Given the description of an element on the screen output the (x, y) to click on. 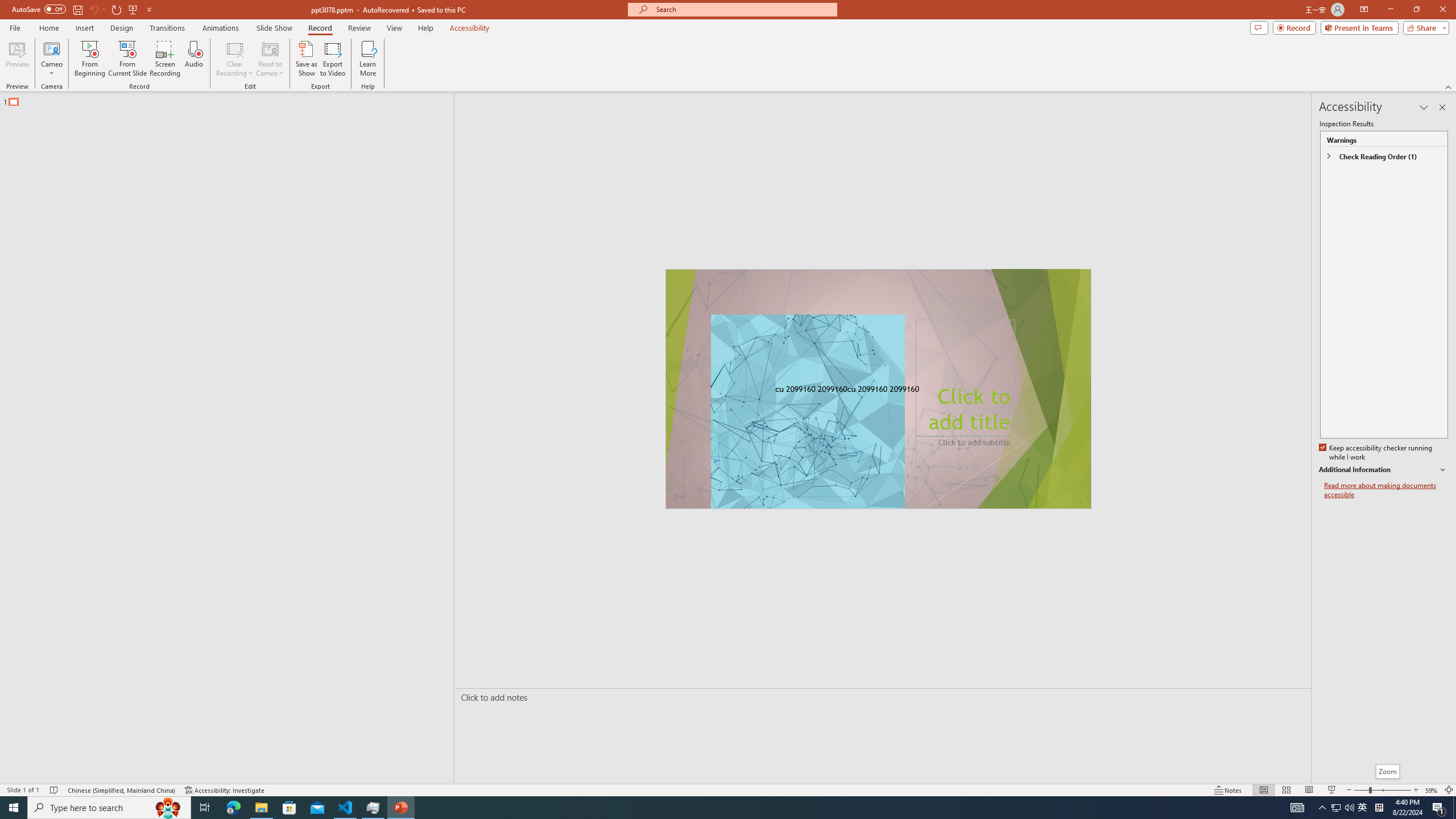
Audio (193, 58)
Additional Information (1383, 469)
